Given the description of an element on the screen output the (x, y) to click on. 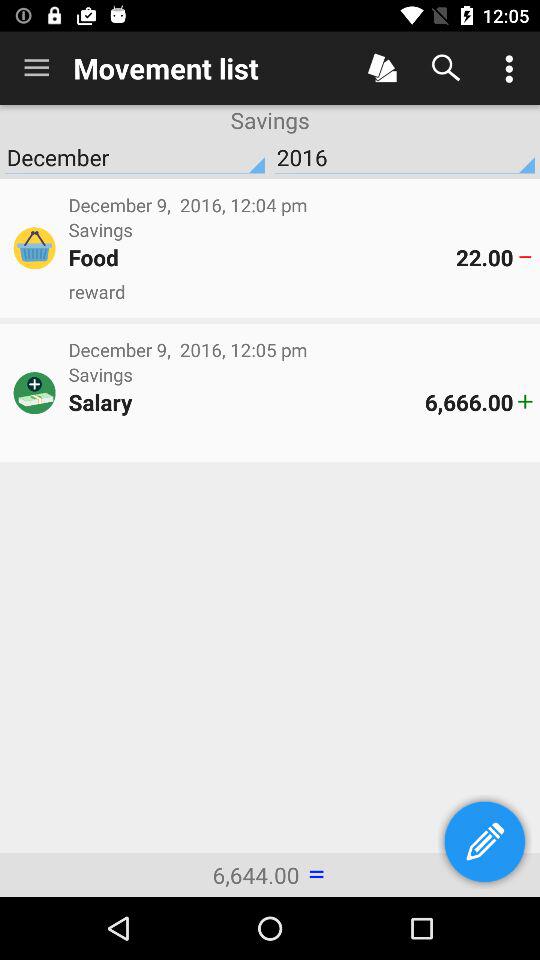
add record (382, 67)
